Given the description of an element on the screen output the (x, y) to click on. 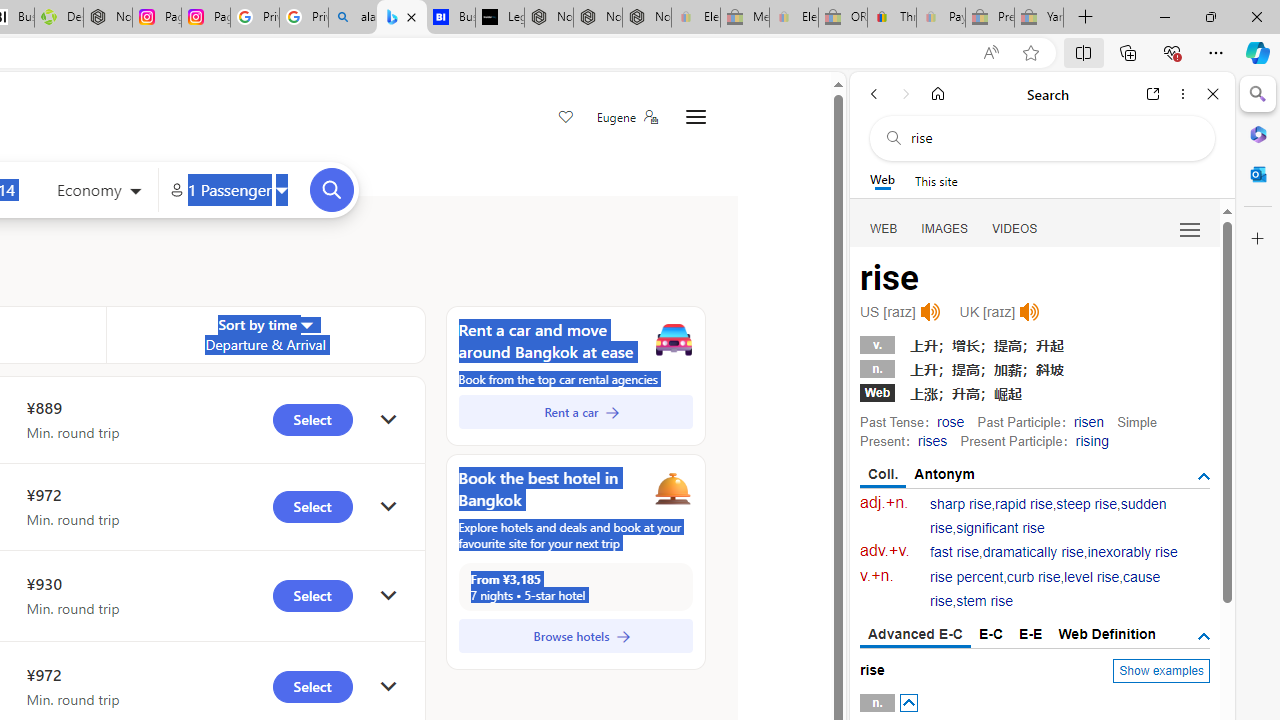
Advanced E-C (915, 635)
Preferences (1189, 228)
Open link in new tab (1153, 93)
Browse hotels (575, 636)
Web Definition (1106, 633)
cause rise (1045, 589)
Eugene (626, 117)
Sort by time Sorter Departure & Arrival (265, 334)
AutomationID: tgdef (1203, 636)
click to get details (388, 687)
